Given the description of an element on the screen output the (x, y) to click on. 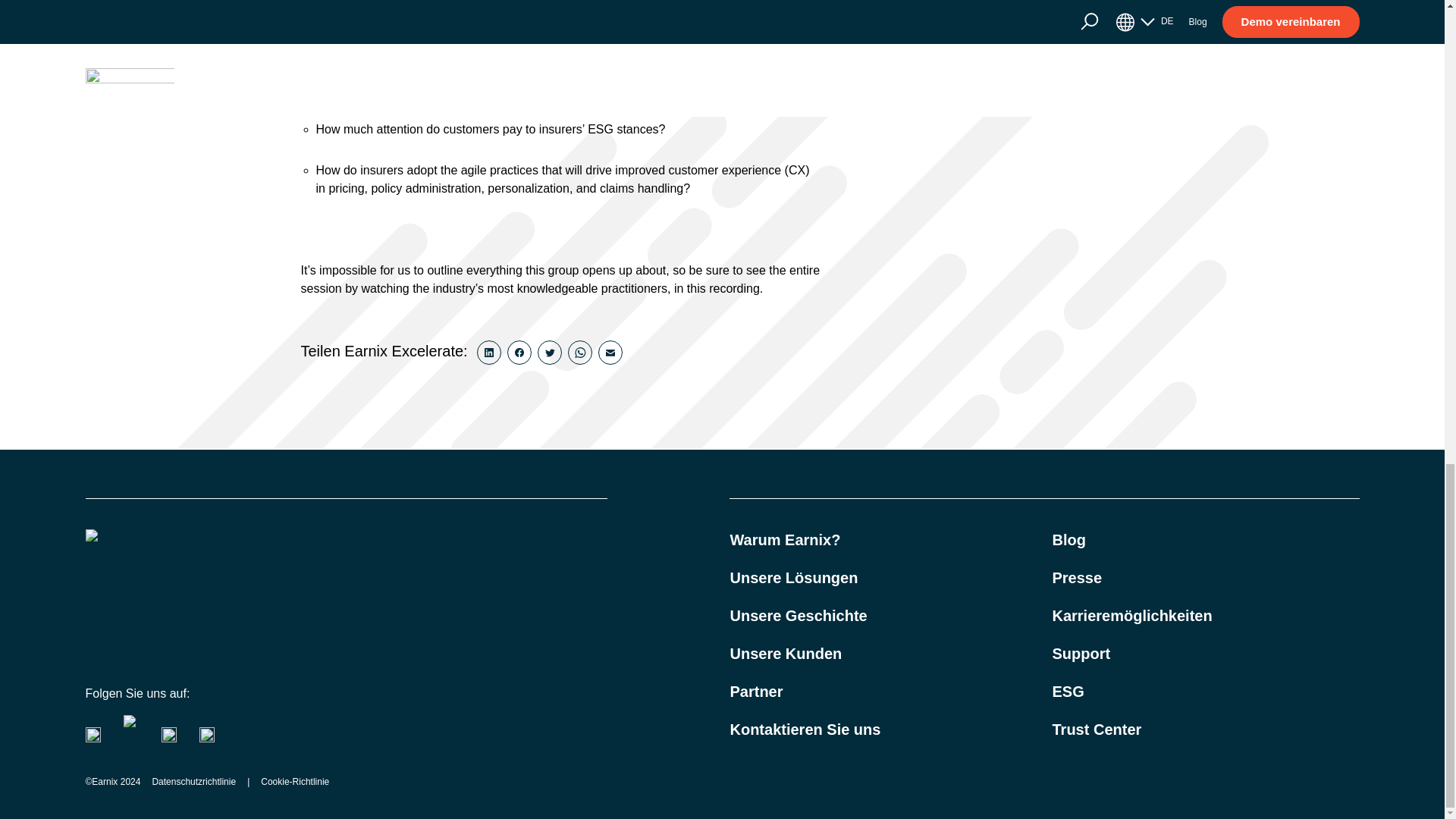
Cookie-Richtlinie (294, 781)
Datenschutzrichtlinie (193, 781)
